Given the description of an element on the screen output the (x, y) to click on. 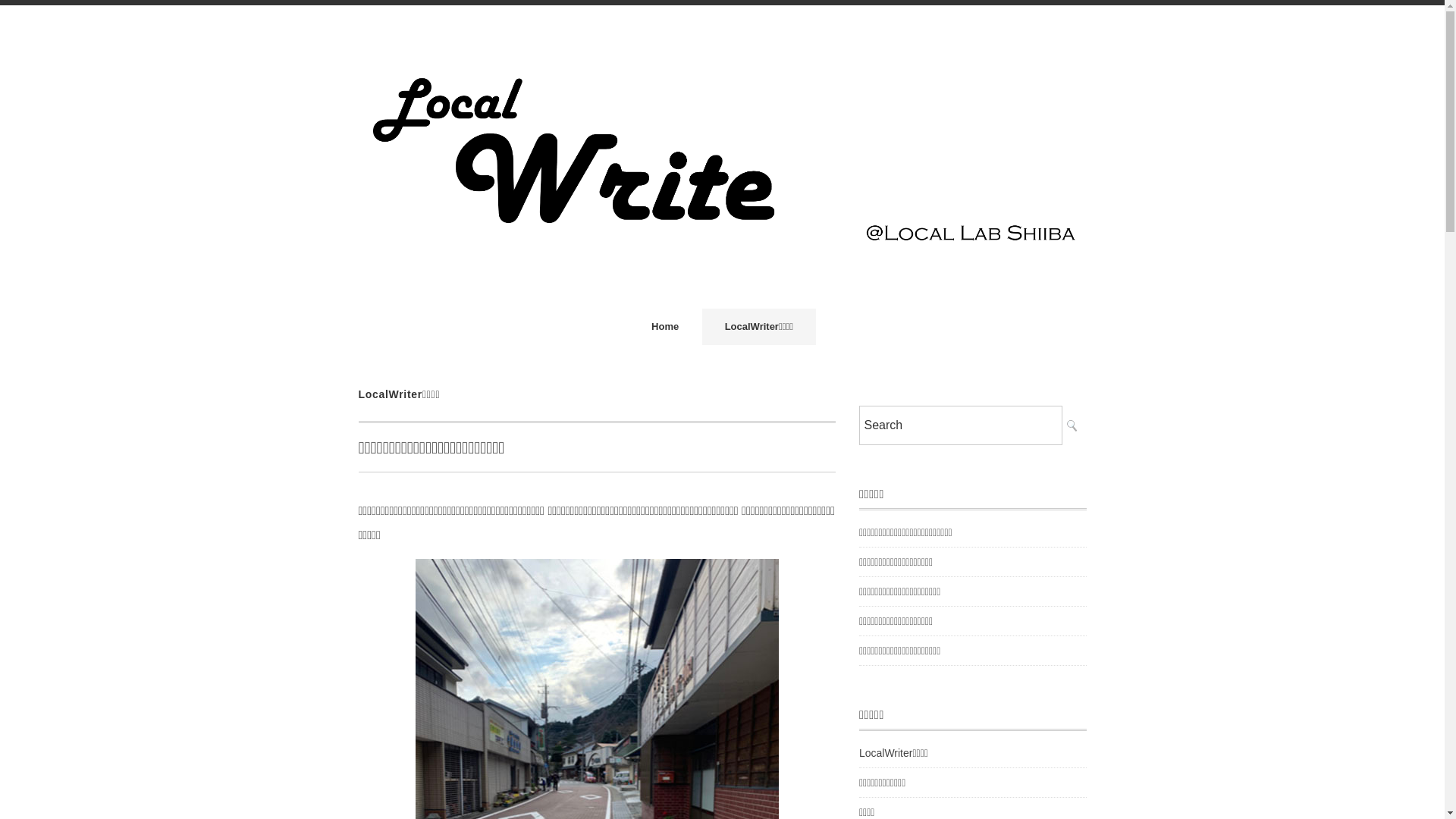
Home Element type: text (664, 326)
